Given the description of an element on the screen output the (x, y) to click on. 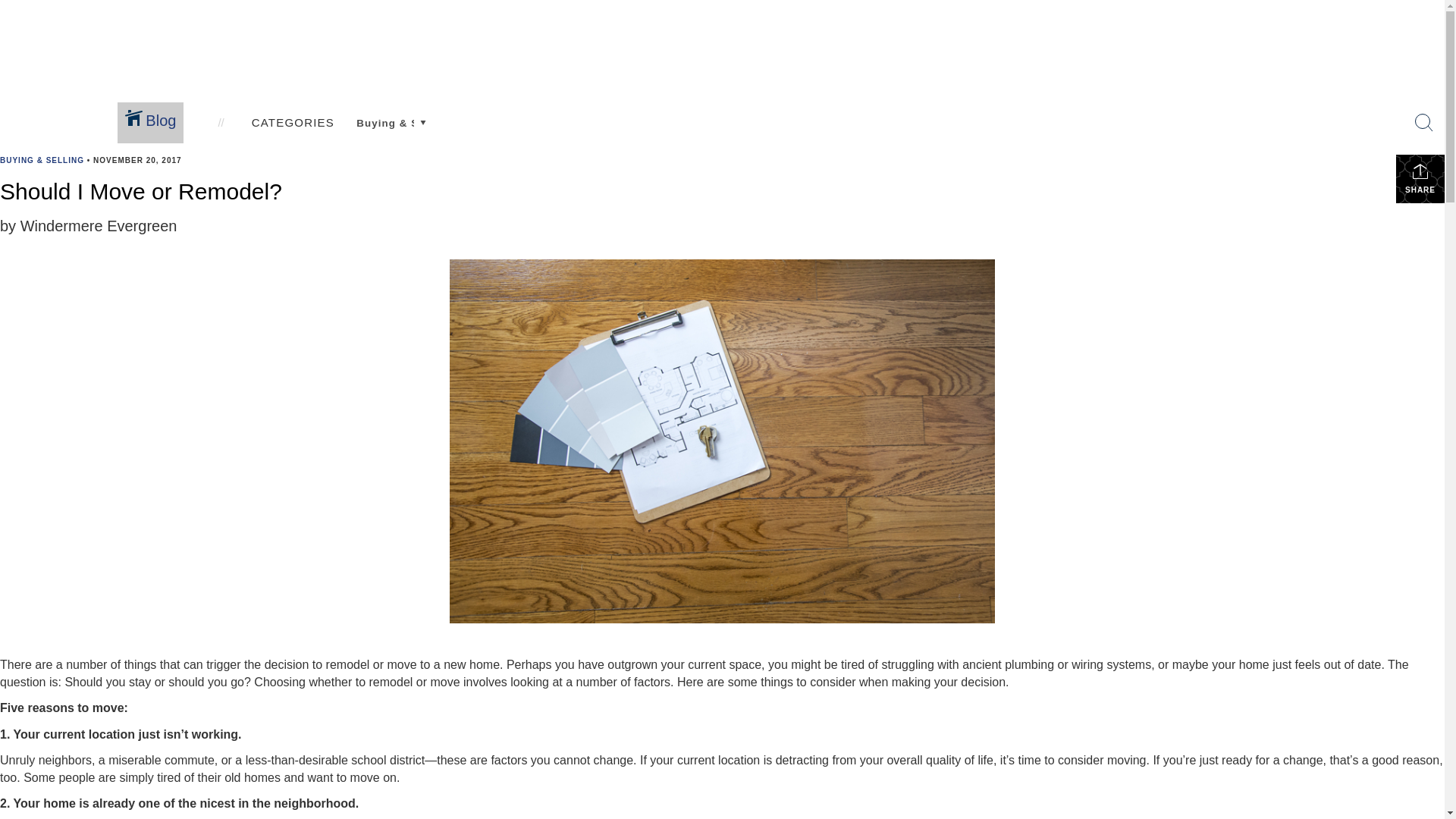
Property Search (163, 107)
Colorado Living (700, 148)
Financial Calculators (367, 145)
Certified Listings (811, 148)
About Us (473, 101)
Blog (551, 132)
SHARE (1420, 178)
Neighborhood News (934, 148)
Blog (547, 101)
My Company's Active Listings (201, 132)
Contact Us (482, 145)
Our Team (478, 132)
Windermere Blog (585, 145)
Office Listings (158, 120)
My Company's Sold Listings (196, 145)
